Given the description of an element on the screen output the (x, y) to click on. 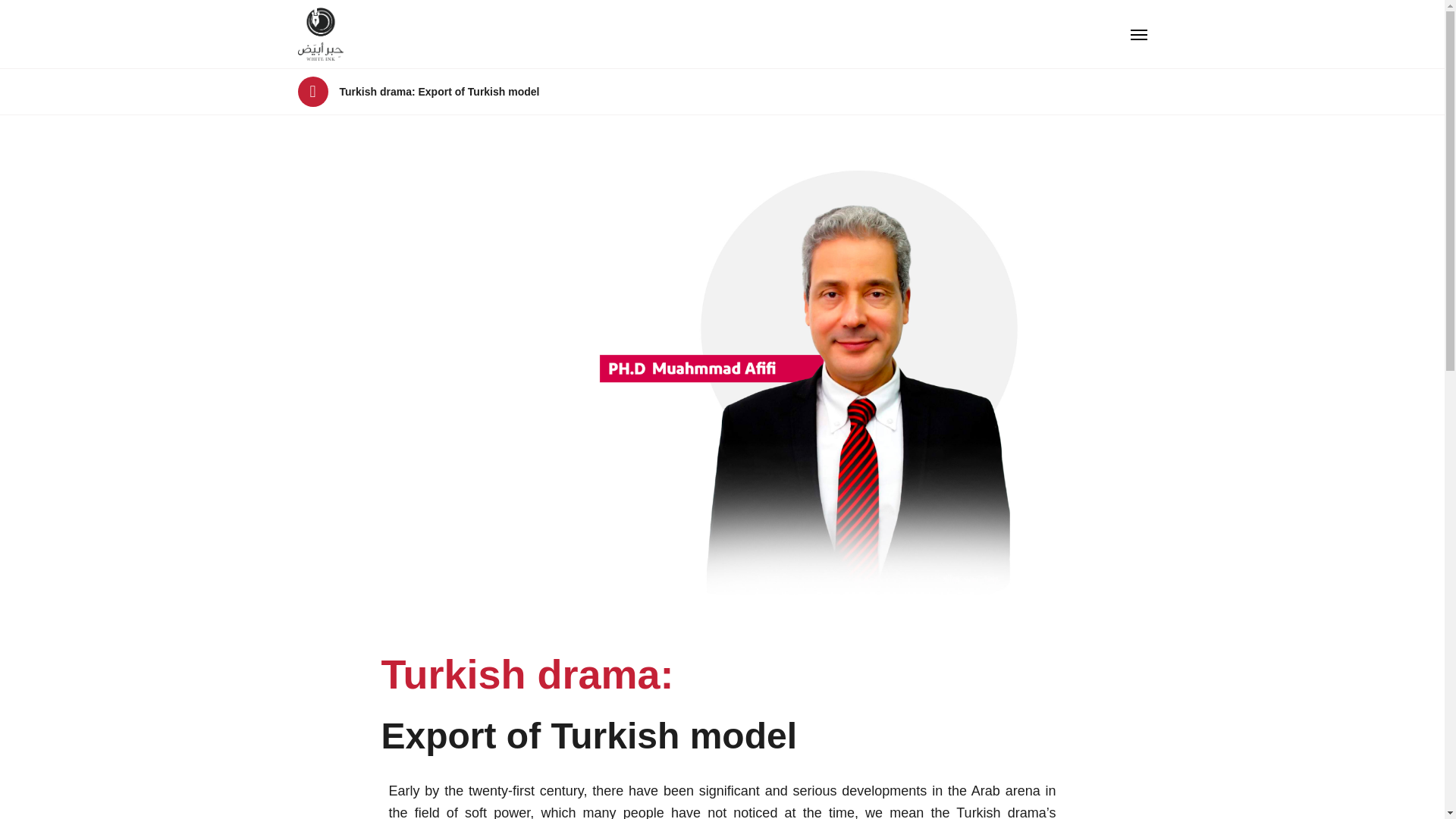
Turkish drama: Export of Turkish model (439, 91)
